Given the description of an element on the screen output the (x, y) to click on. 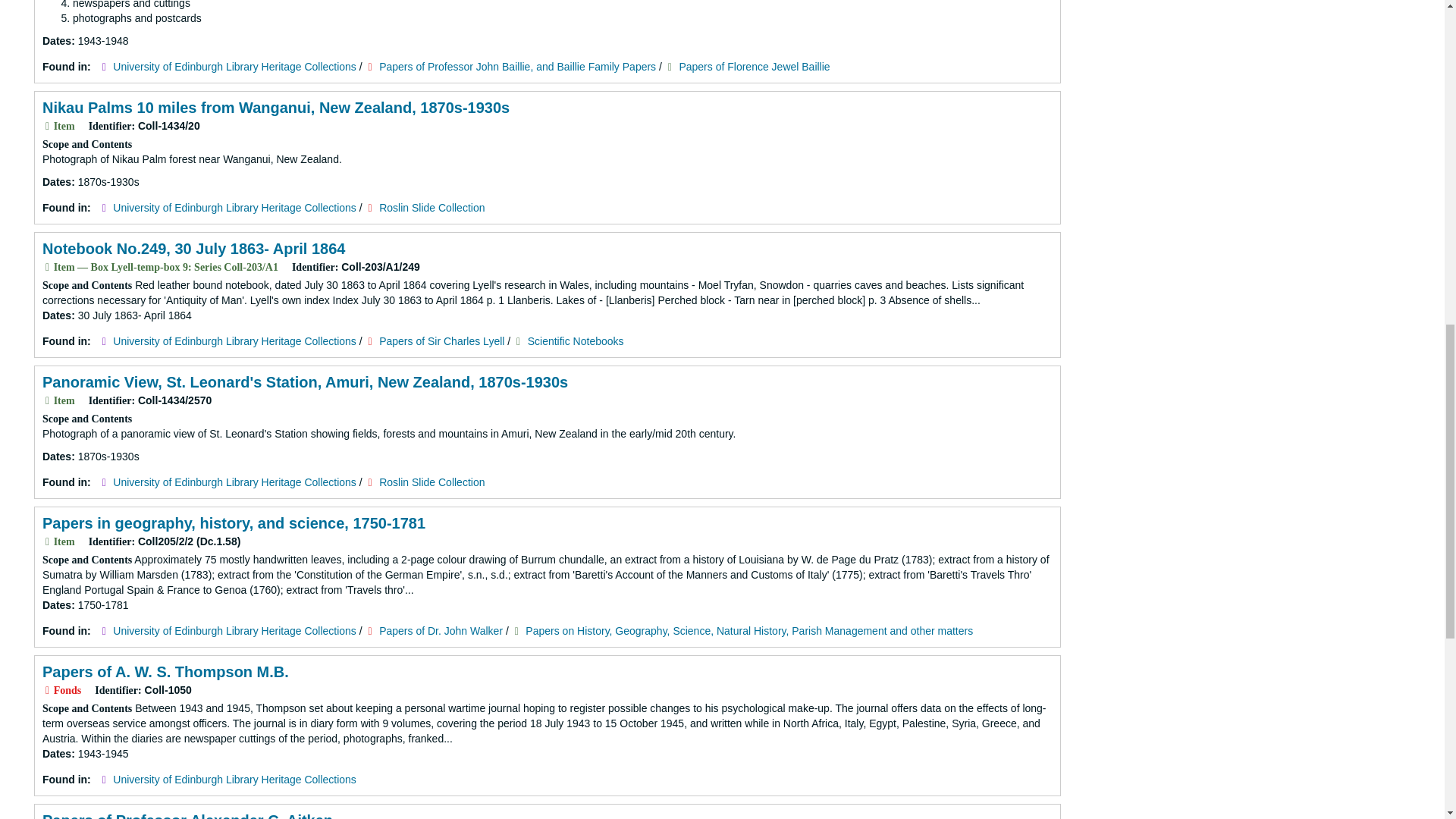
Scientific Notebooks (575, 340)
University of Edinburgh Library Heritage Collections (234, 340)
University of Edinburgh Library Heritage Collections (234, 66)
Papers of Florence Jewel Baillie (753, 66)
Papers of Sir Charles Lyell (440, 340)
Nikau Palms 10 miles from Wanganui, New Zealand, 1870s-1930s (275, 107)
University of Edinburgh Library Heritage Collections (234, 207)
Roslin Slide Collection (431, 207)
Notebook No.249, 30 July 1863- April 1864 (193, 248)
Papers of Professor John Baillie, and Baillie Family Papers (517, 66)
